Given the description of an element on the screen output the (x, y) to click on. 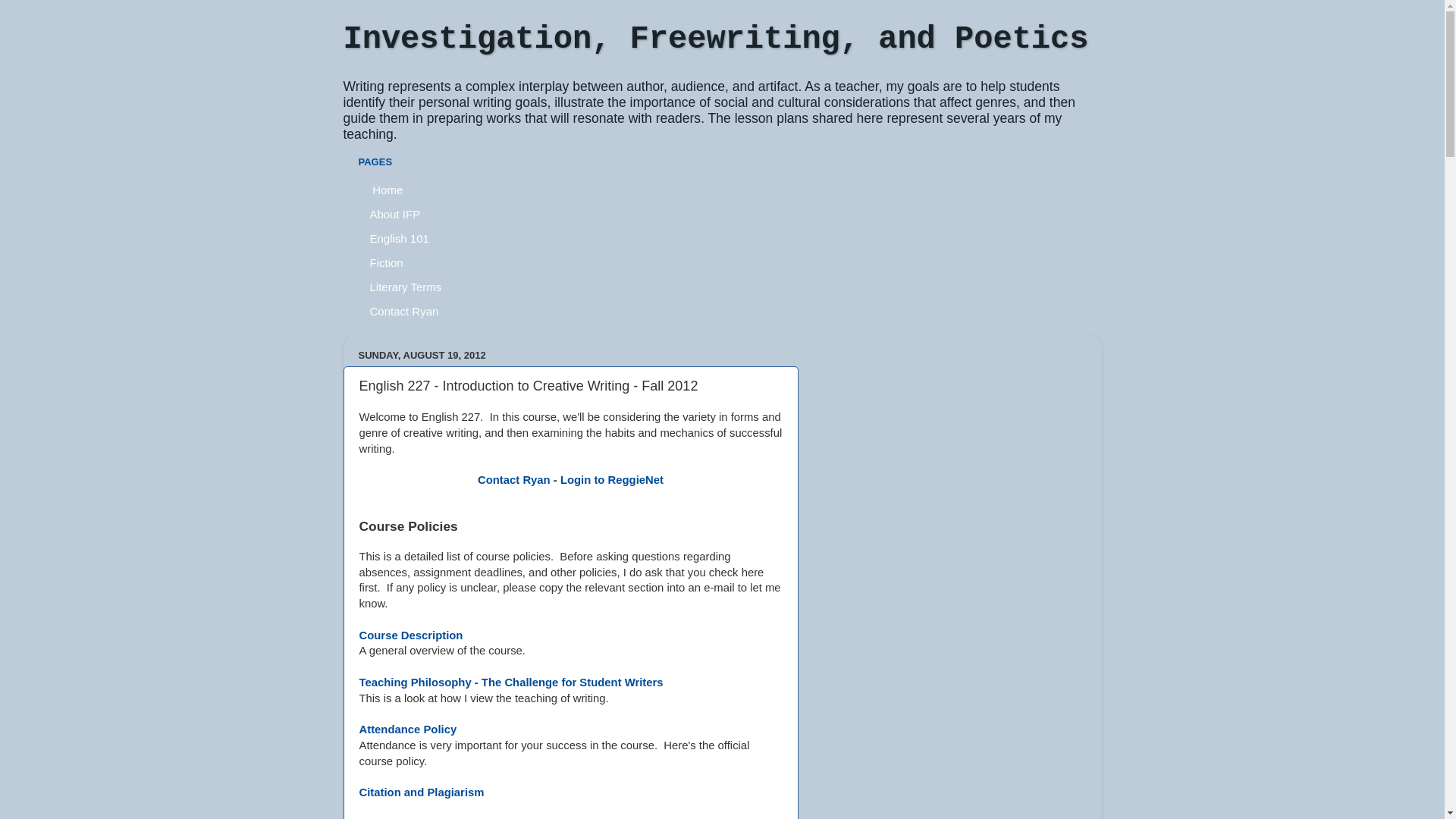
Fiction Element type: text (385, 262)
Investigation, Freewriting, and Poetics Element type: text (715, 39)
Contact Ryan Element type: text (513, 479)
Course Description Element type: text (411, 635)
Attendance Policy Element type: text (408, 729)
English 101 Element type: text (398, 237)
Citation and Plagiarism Element type: text (421, 792)
Literary Terms Element type: text (405, 286)
Contact Ryan Element type: text (403, 310)
About IFP Element type: text (394, 213)
Login to ReggieNet Element type: text (611, 479)
Home Element type: text (385, 189)
Teaching Philosophy - The Challenge for Student Writers Element type: text (511, 682)
